Given the description of an element on the screen output the (x, y) to click on. 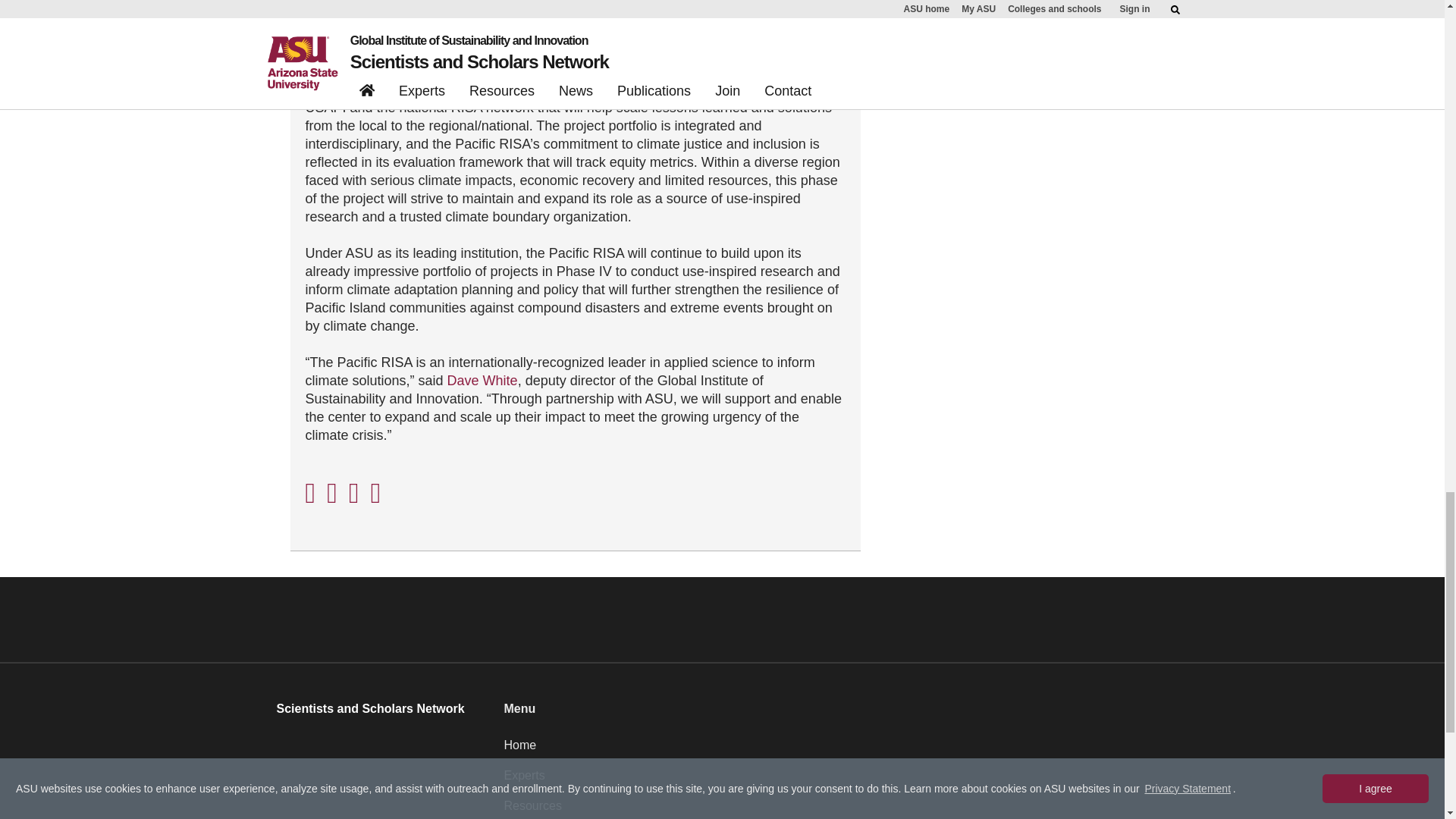
Home (835, 751)
Resources (835, 807)
Dave White (482, 380)
Experts (835, 781)
